Given the description of an element on the screen output the (x, y) to click on. 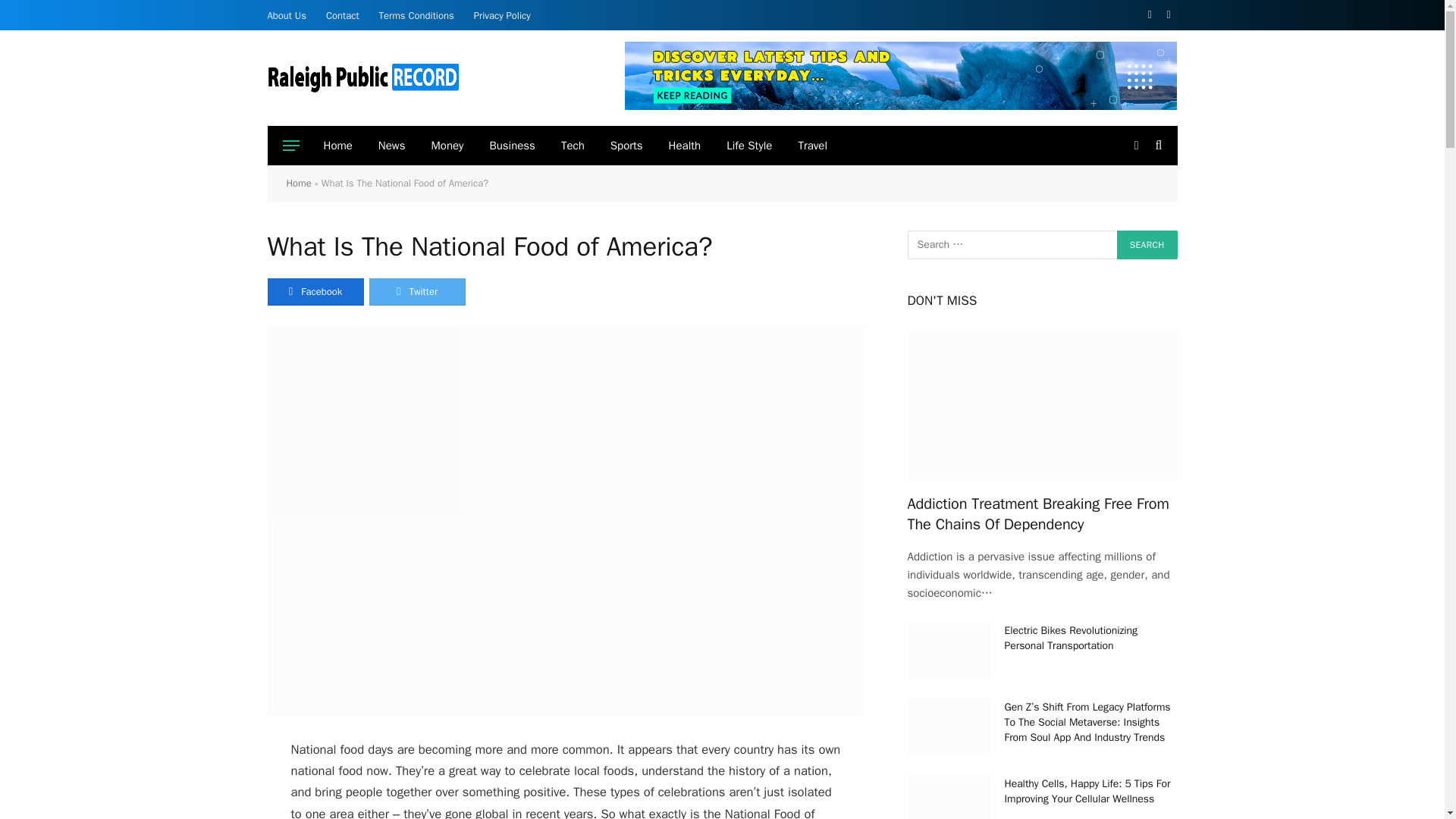
News (392, 145)
Sports (626, 145)
Terms Conditions (416, 15)
Privacy Policy (502, 15)
Travel (812, 145)
Share on Facebook (314, 291)
Home (298, 182)
Facebook (314, 291)
Twitter (416, 291)
